Given the description of an element on the screen output the (x, y) to click on. 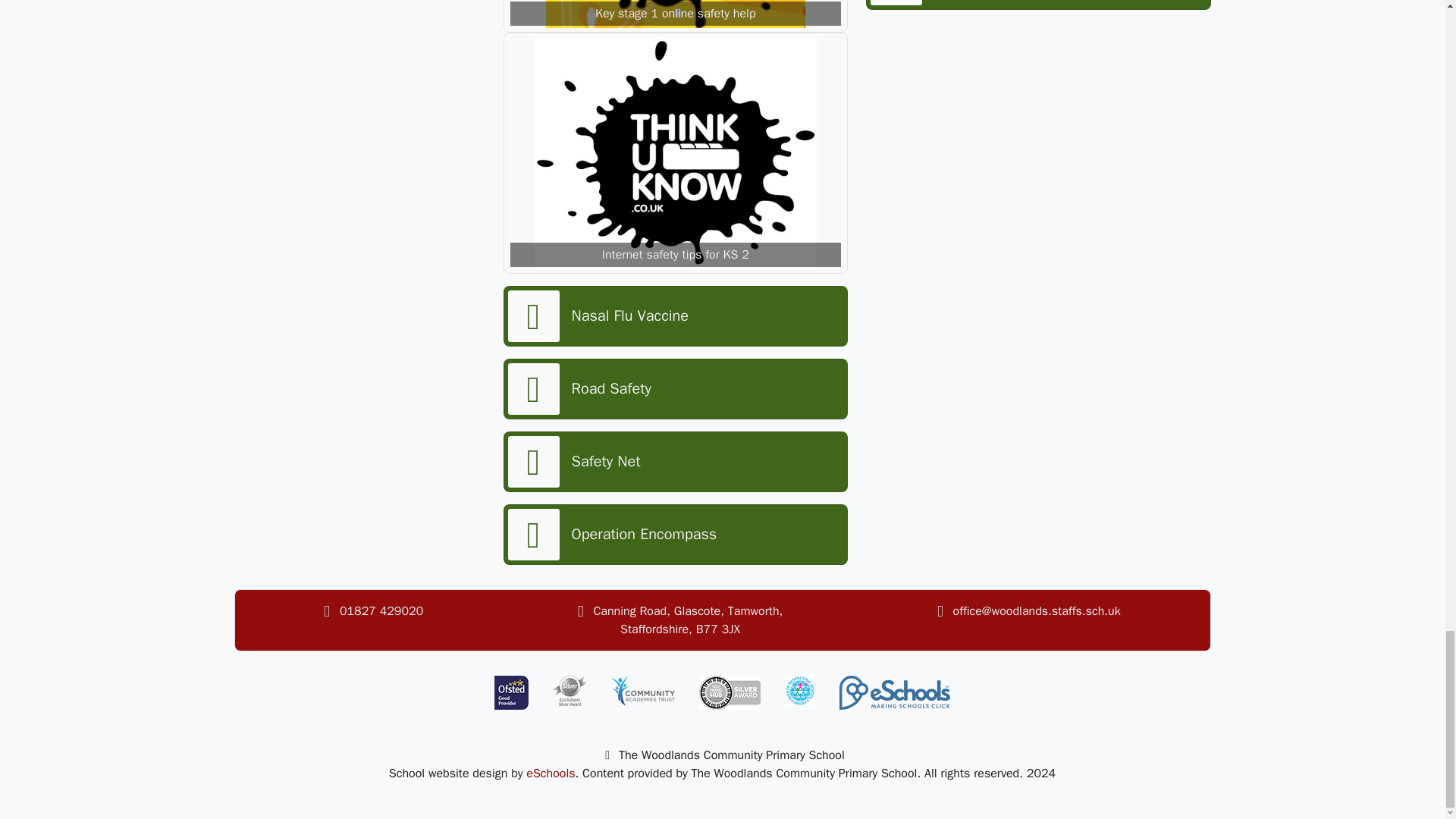
Music Education Hub Silver (729, 692)
Eco-Schools Silver Award (569, 690)
Rights Respecting School - UNICEF (799, 690)
CAT (643, 690)
OFSTED Good (511, 692)
